Given the description of an element on the screen output the (x, y) to click on. 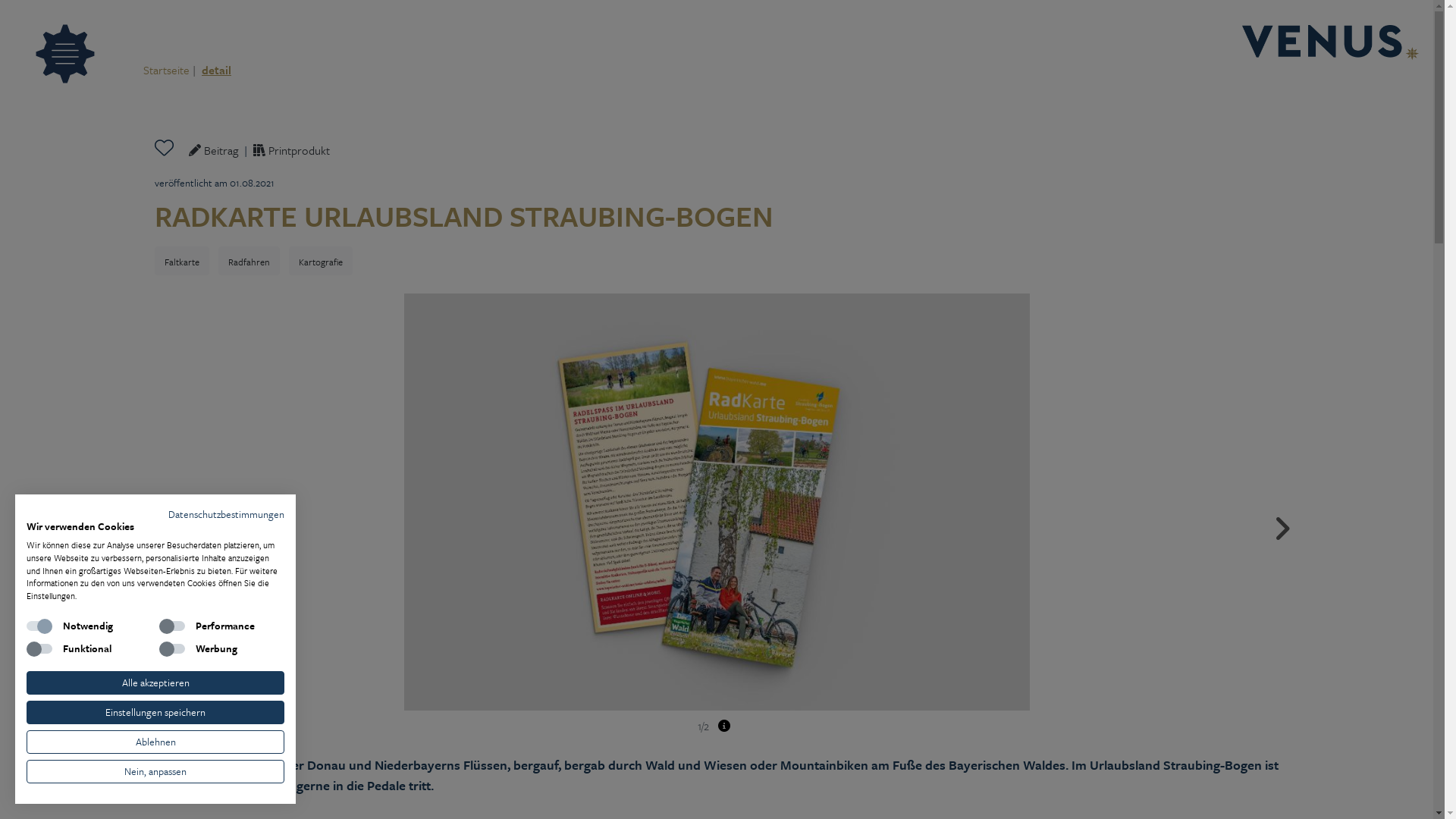
Merken Element type: hover (169, 148)
Ablehnen Element type: text (155, 741)
Nein, anpassen Element type: text (155, 771)
Next Element type: text (1281, 520)
Logo Element type: hover (1331, 43)
Faltkarte Element type: text (181, 260)
Infos Element type: hover (723, 725)
detail Element type: text (216, 69)
Radfahren Element type: text (248, 260)
Startseite Element type: text (166, 69)
Kartografie Element type: text (320, 260)
Beitrag Element type: text (213, 149)
Datenschutzbestimmungen Element type: text (226, 513)
1/2 Element type: text (716, 513)
Printprodukt Element type: text (291, 149)
Previous Element type: text (150, 520)
Alle akzeptieren Element type: text (155, 682)
Einstellungen speichern Element type: text (155, 712)
